Given the description of an element on the screen output the (x, y) to click on. 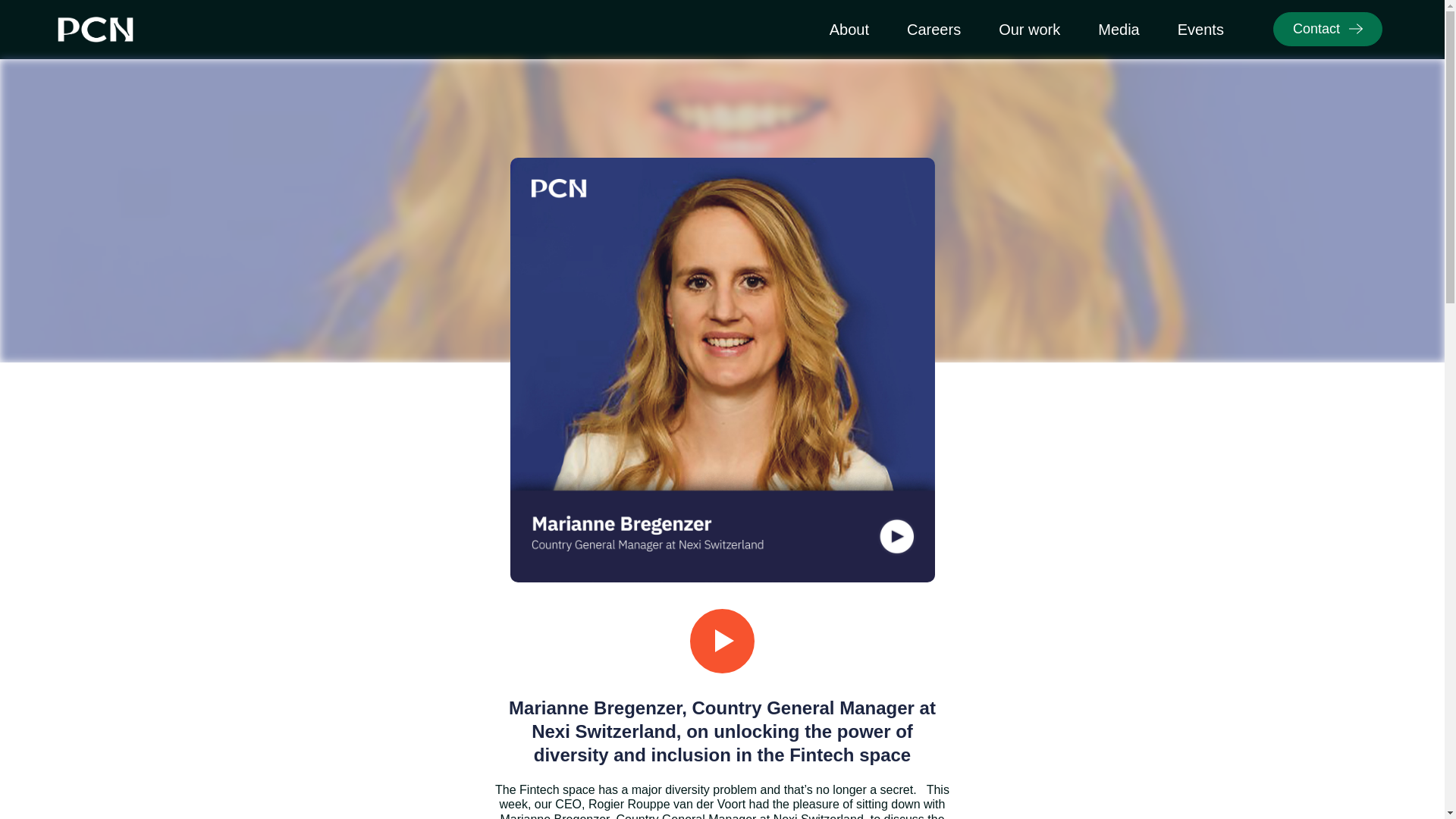
Our work (1029, 29)
Careers (932, 29)
About (848, 29)
Media (1118, 29)
Events (1200, 29)
